Given the description of an element on the screen output the (x, y) to click on. 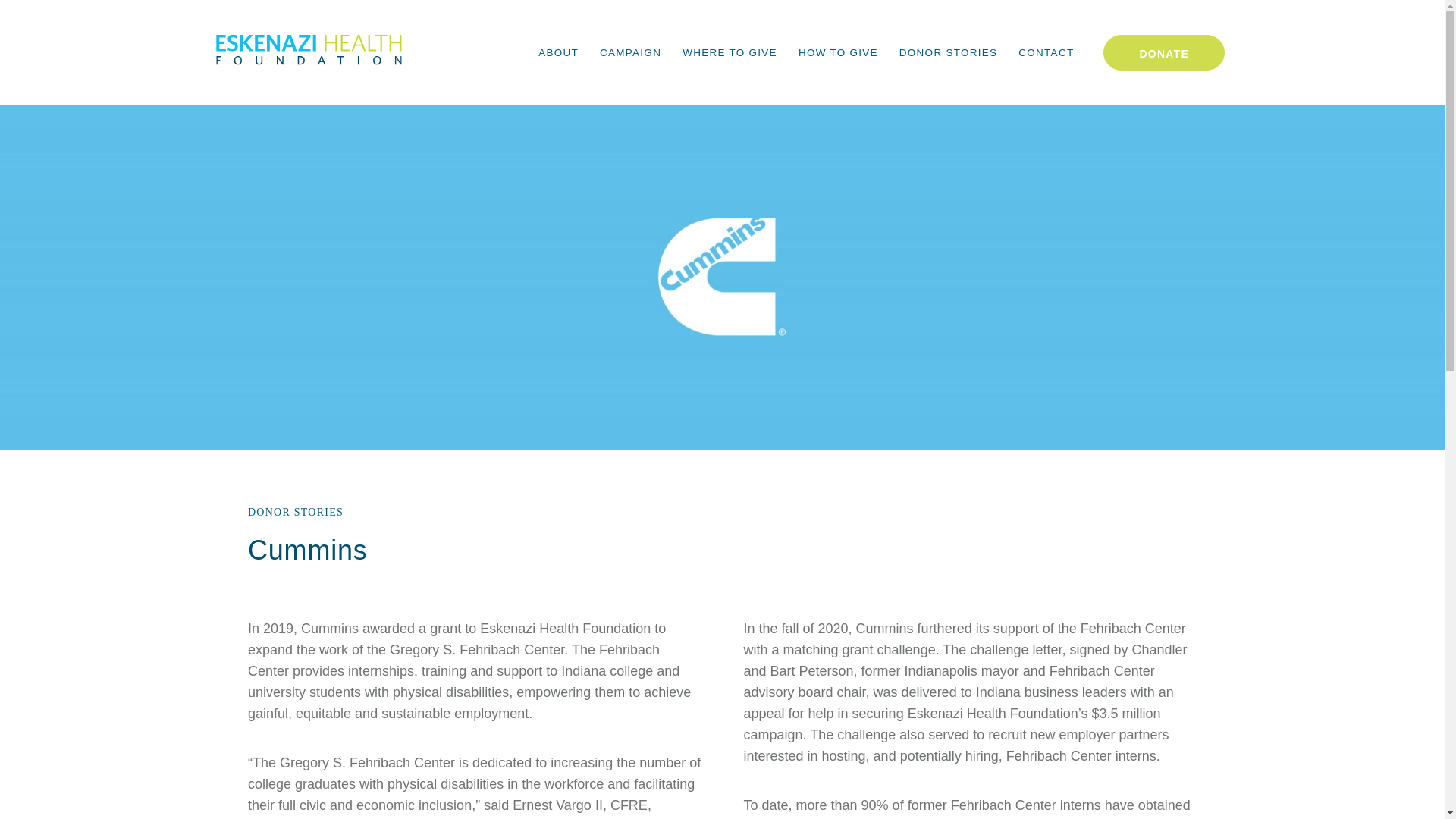
WHERE TO GIVE (729, 52)
Eskenazi Health (308, 52)
DONOR STORIES (948, 52)
CAMPAIGN (630, 52)
CONTACT (1045, 52)
DONATE (1163, 52)
HOW TO GIVE (837, 52)
ABOUT (558, 52)
